Given the description of an element on the screen output the (x, y) to click on. 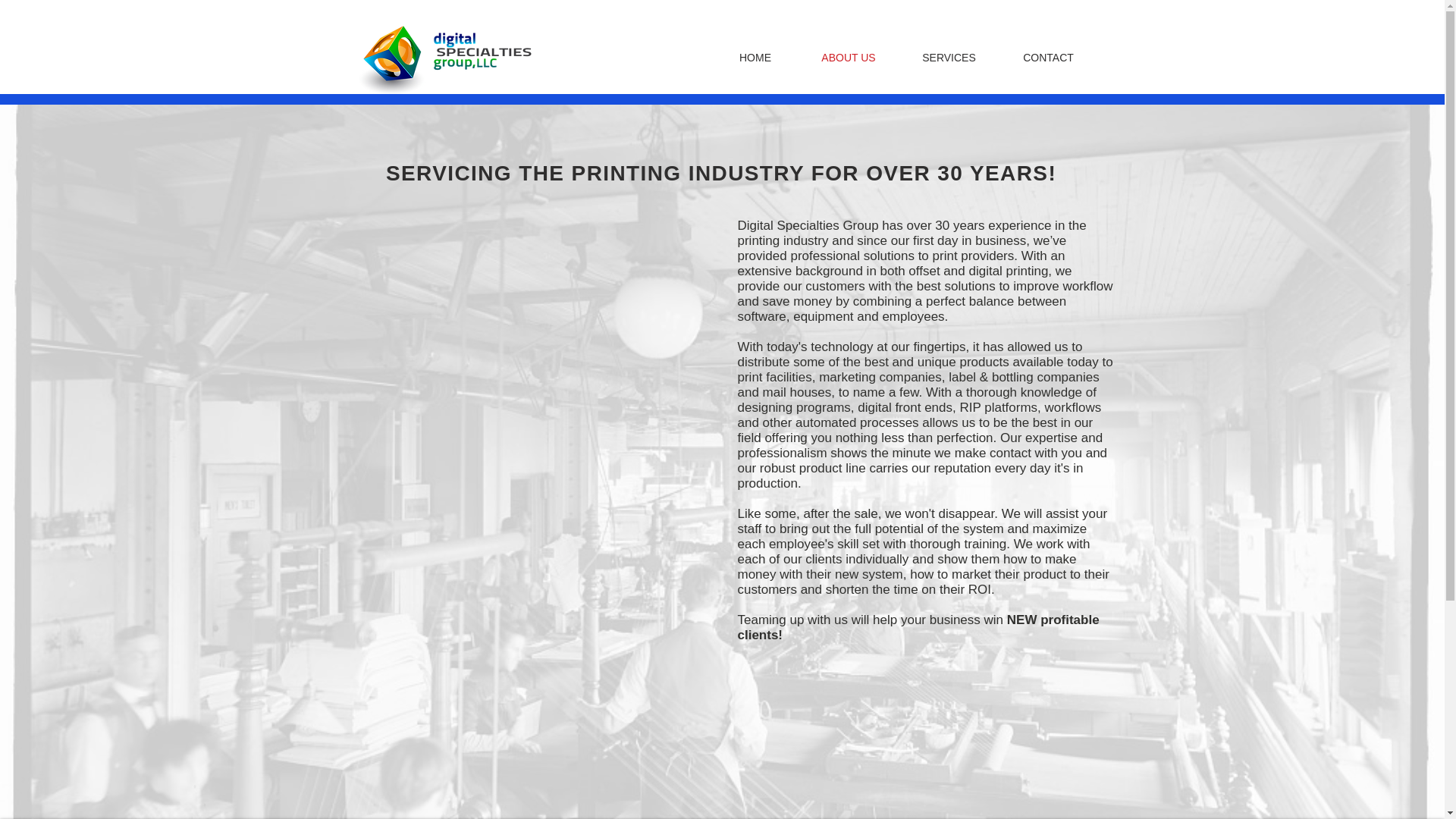
CONTACT (1048, 57)
HOME (755, 57)
SERVICES (949, 57)
ABOUT US (847, 57)
